Given the description of an element on the screen output the (x, y) to click on. 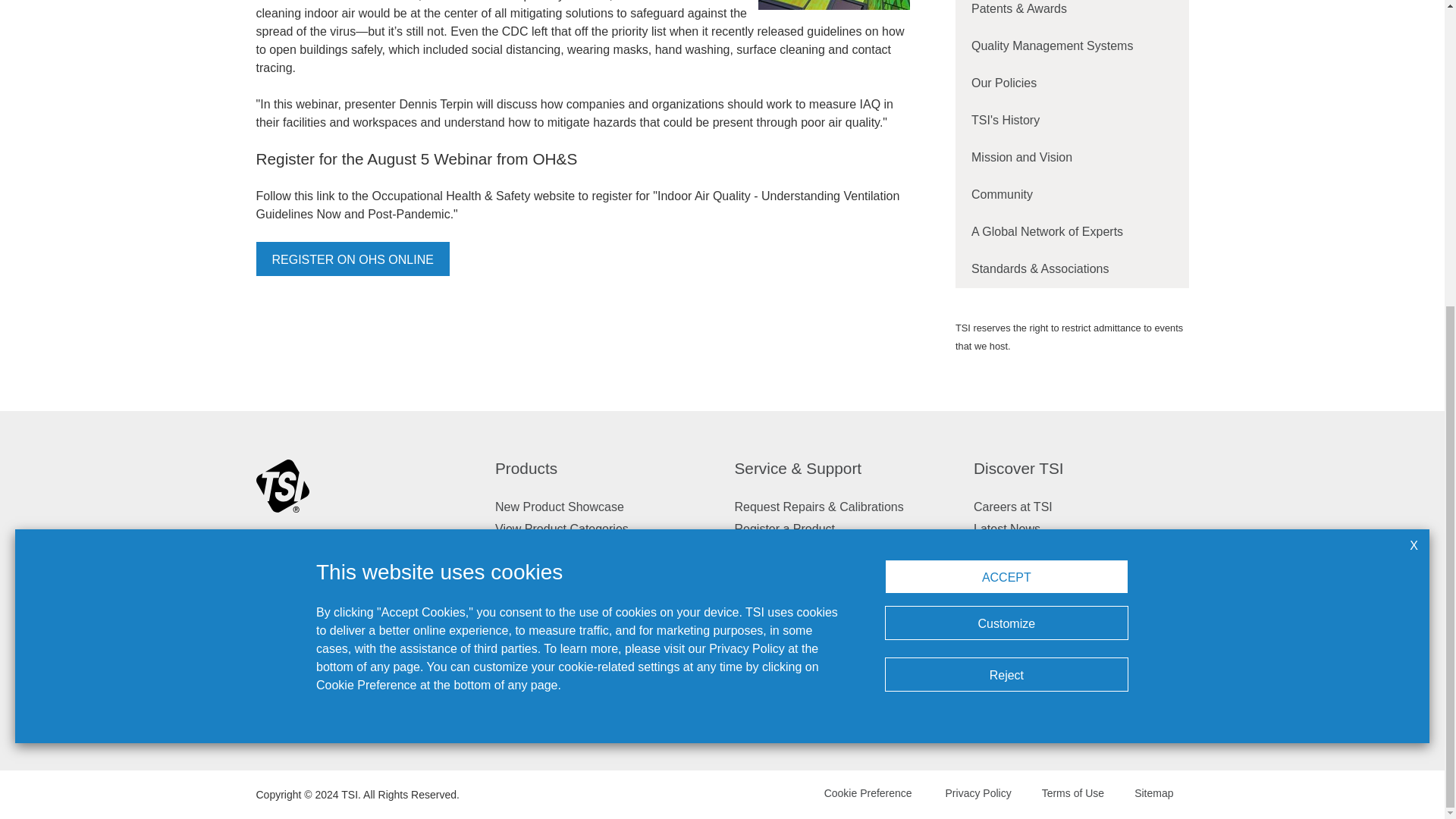
Community (1072, 194)
Quality Management Systems (1072, 45)
Accept (1006, 93)
Reject (1006, 192)
Our Policies (1072, 83)
A Global Network of Experts (1072, 231)
Mission and Vision (1072, 157)
TSI's History (1072, 120)
TSI sponsoring a webinar on indoor air quality (834, 4)
